Given the description of an element on the screen output the (x, y) to click on. 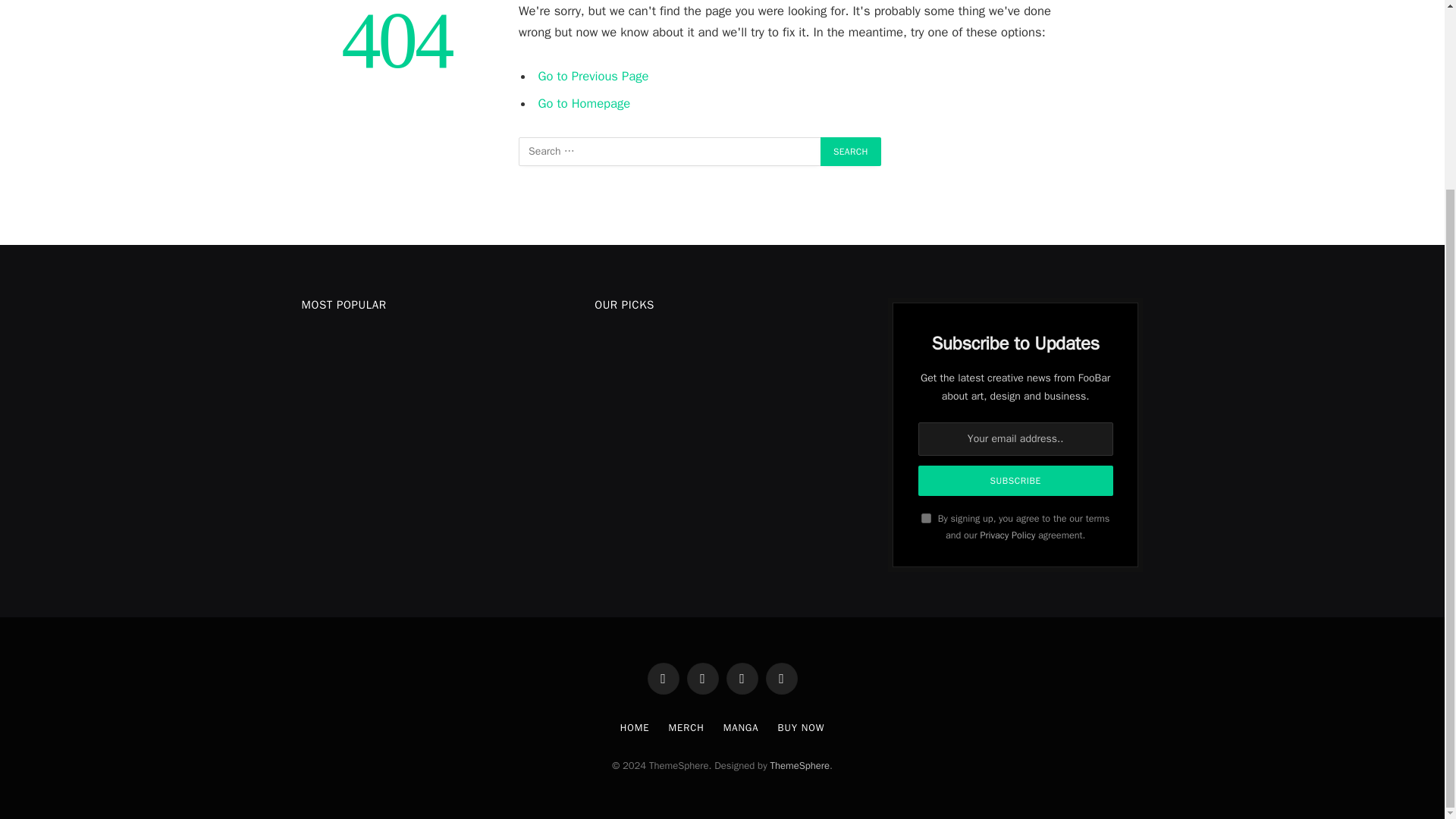
Facebook (663, 678)
MERCH (685, 727)
Subscribe (1015, 481)
Search (850, 151)
Instagram (742, 678)
Pinterest (781, 678)
Go to Homepage (584, 103)
Search (850, 151)
on (926, 518)
Subscribe (1015, 481)
Search (850, 151)
Privacy Policy (1007, 535)
Go to Previous Page (593, 75)
HOME (634, 727)
